Given the description of an element on the screen output the (x, y) to click on. 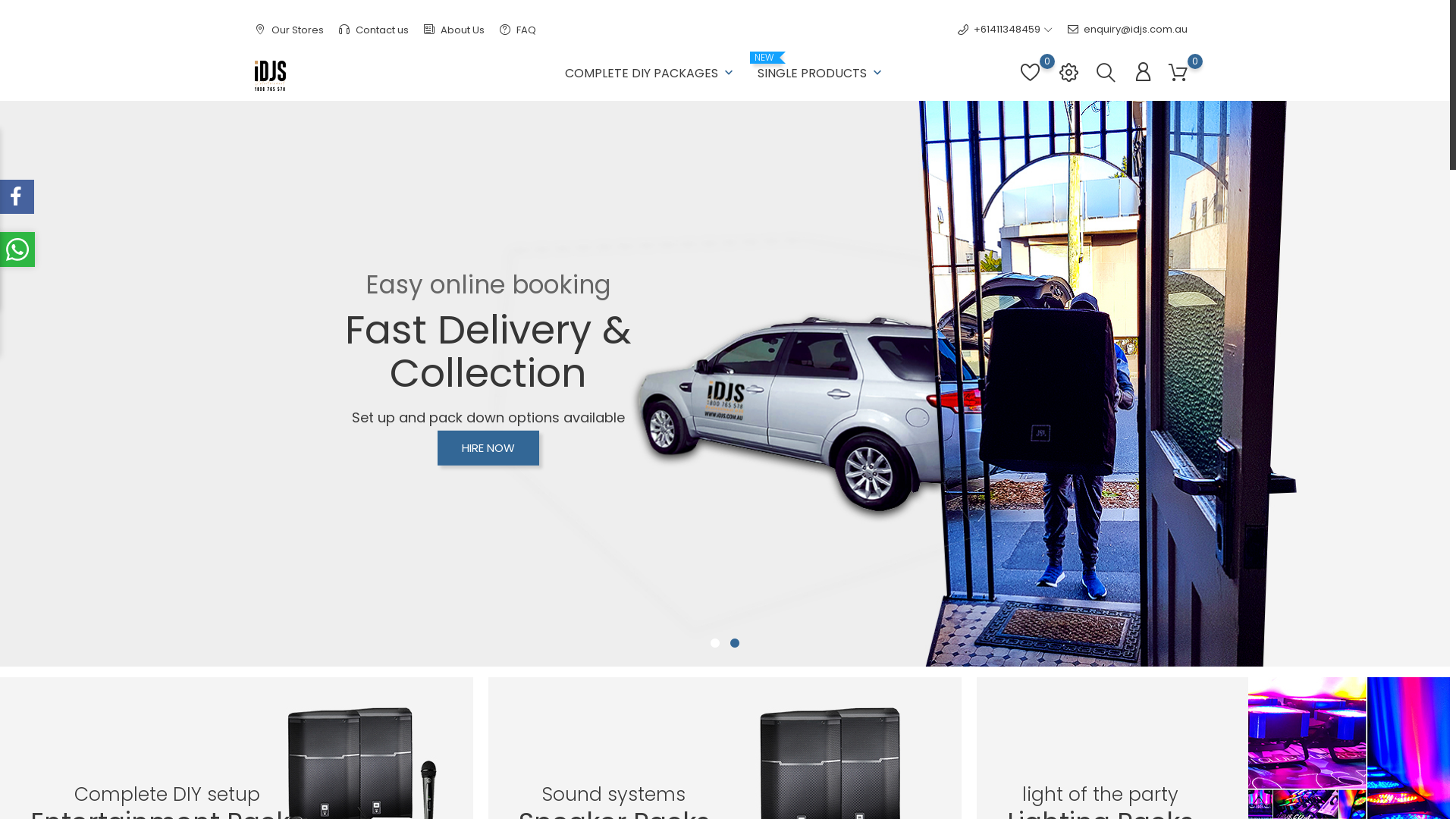
Privacy policy Element type: text (685, 705)
Credit slips Element type: text (839, 658)
Contact us Element type: text (373, 29)
Orders Element type: text (829, 634)
Vouchers Element type: text (836, 705)
DJ Hire Melbourne Element type: text (536, 705)
donotreply@melbournedjslightspeakershire.com.au Element type: text (390, 685)
Best hire sales Element type: text (526, 658)
2 Element type: text (734, 643)
SINGLE PRODUCTS
NEW
keyboard_arrow_down Element type: text (820, 69)
Discount Hire Element type: text (523, 611)
Frequently Asked Questions Element type: text (720, 658)
Personal info Element type: text (844, 611)
Our Stores Element type: text (288, 29)
1800765578 Element type: text (288, 662)
FAQ Element type: text (517, 29)
New hire products Element type: text (536, 634)
About Us Element type: text (453, 29)
Stores Element type: text (668, 752)
enquiry@idjs.com.au Element type: text (1127, 29)
Terms and conditions of hire Element type: text (722, 634)
1 Element type: text (714, 643)
Secure payment Element type: text (693, 681)
Rental process Element type: text (689, 611)
0 Element type: text (1177, 72)
Sitemap Element type: text (672, 728)
COMPLETE DIY PACKAGES keyboard_arrow_down Element type: text (650, 69)
+61411348459 Element type: text (998, 29)
0 Element type: text (1029, 80)
YOUR ACCOUNT Element type: text (860, 579)
Best Wedding DJ Element type: text (532, 681)
Faq Element type: text (836, 728)
Addresses Element type: text (839, 681)
